Given the description of an element on the screen output the (x, y) to click on. 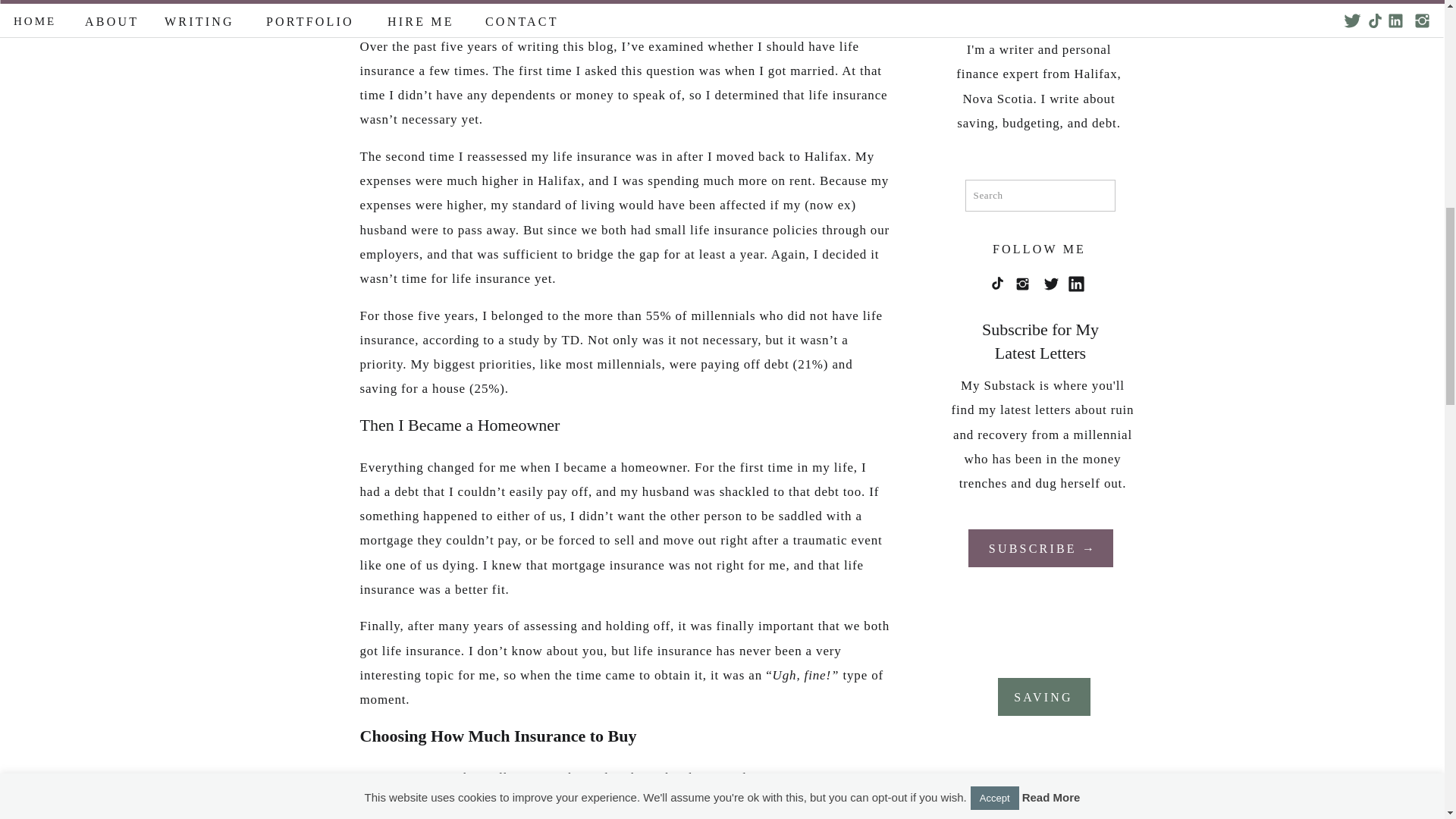
SAVING (1042, 694)
